Given the description of an element on the screen output the (x, y) to click on. 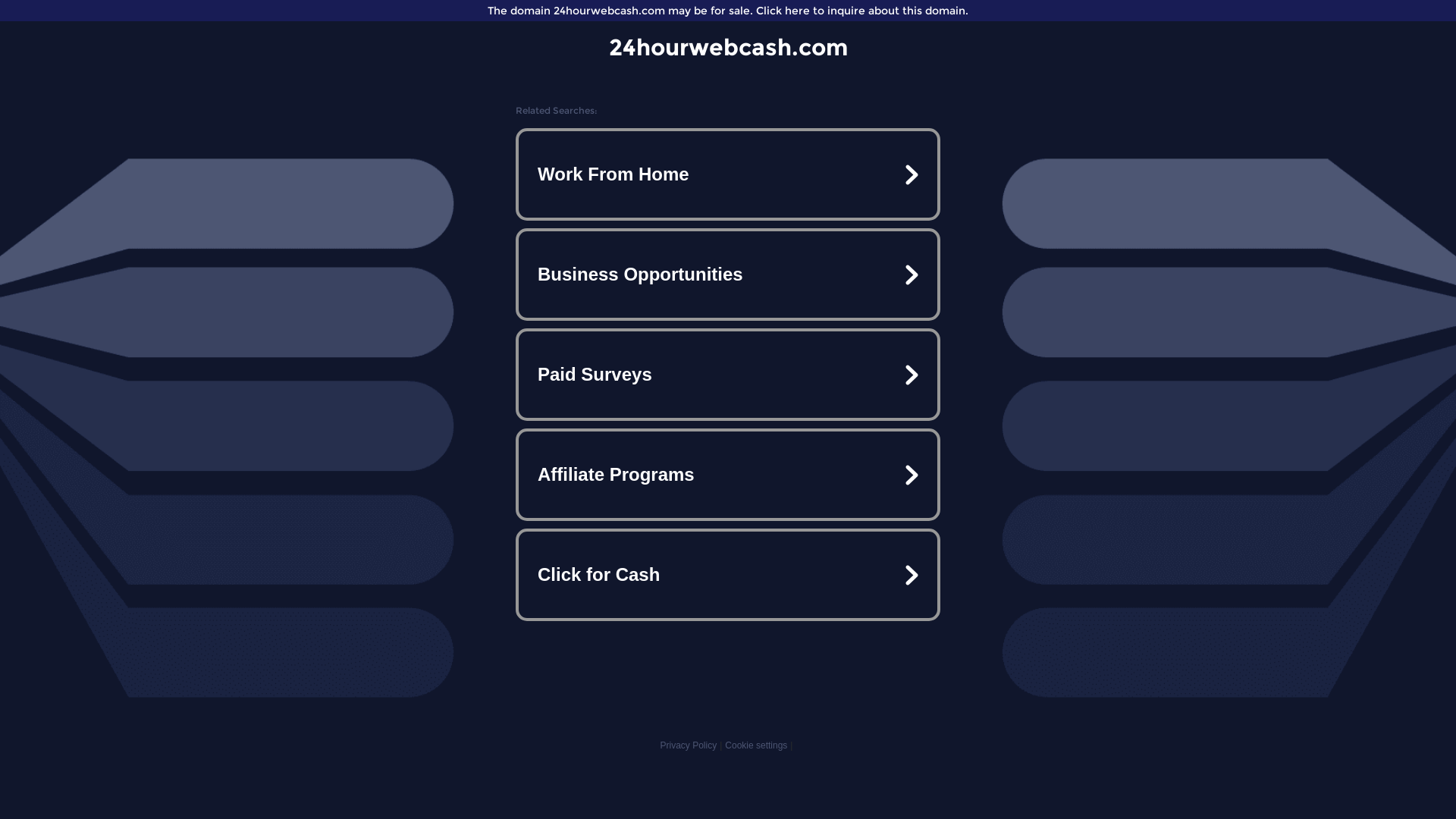
Privacy Policy Element type: text (687, 745)
Paid Surveys Element type: text (727, 374)
Cookie settings Element type: text (755, 745)
Work From Home Element type: text (727, 174)
Affiliate Programs Element type: text (727, 474)
Click for Cash Element type: text (727, 574)
Business Opportunities Element type: text (727, 274)
24hourwebcash.com Element type: text (727, 47)
